Given the description of an element on the screen output the (x, y) to click on. 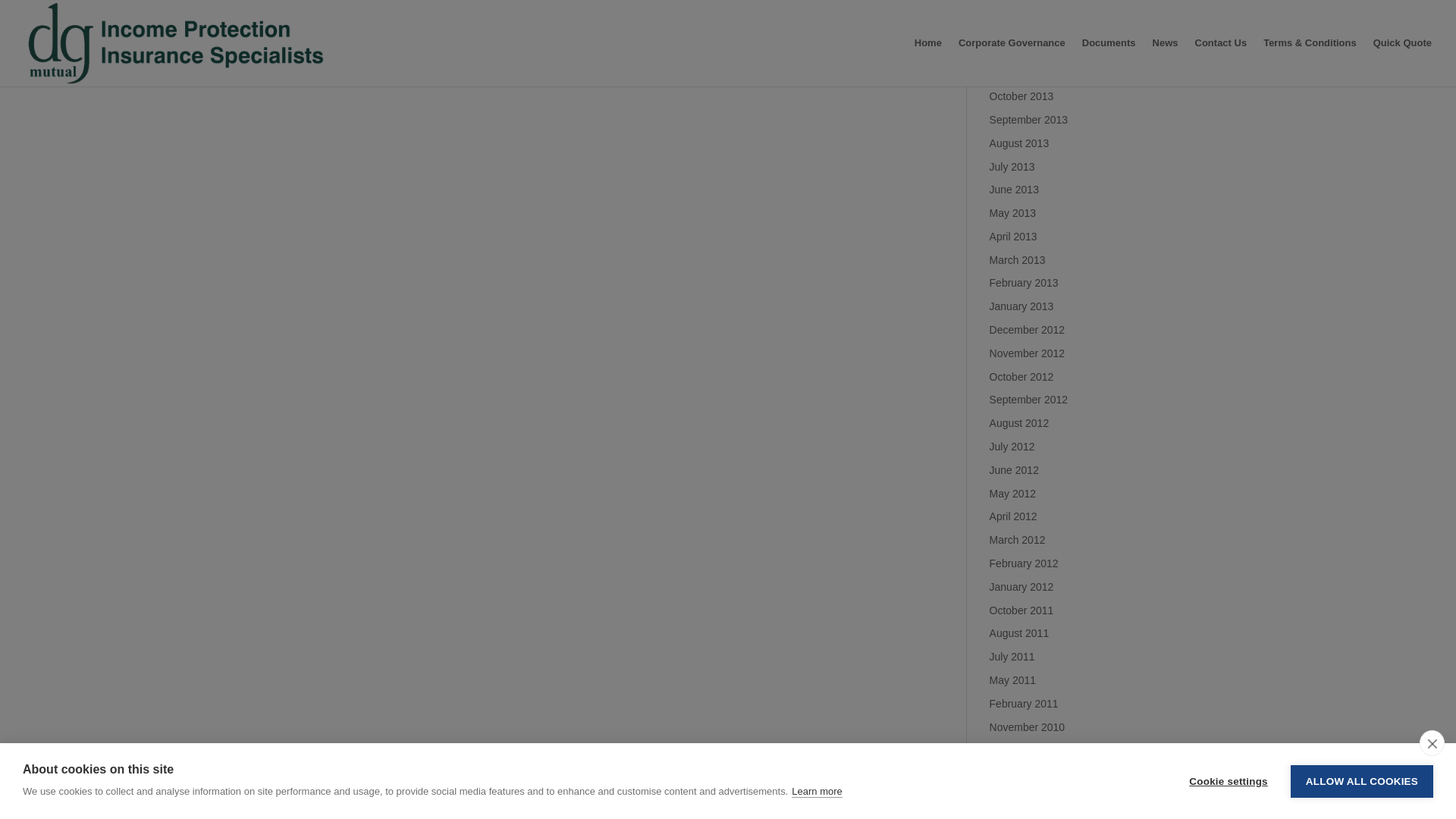
March 2014 (1017, 4)
